Given the description of an element on the screen output the (x, y) to click on. 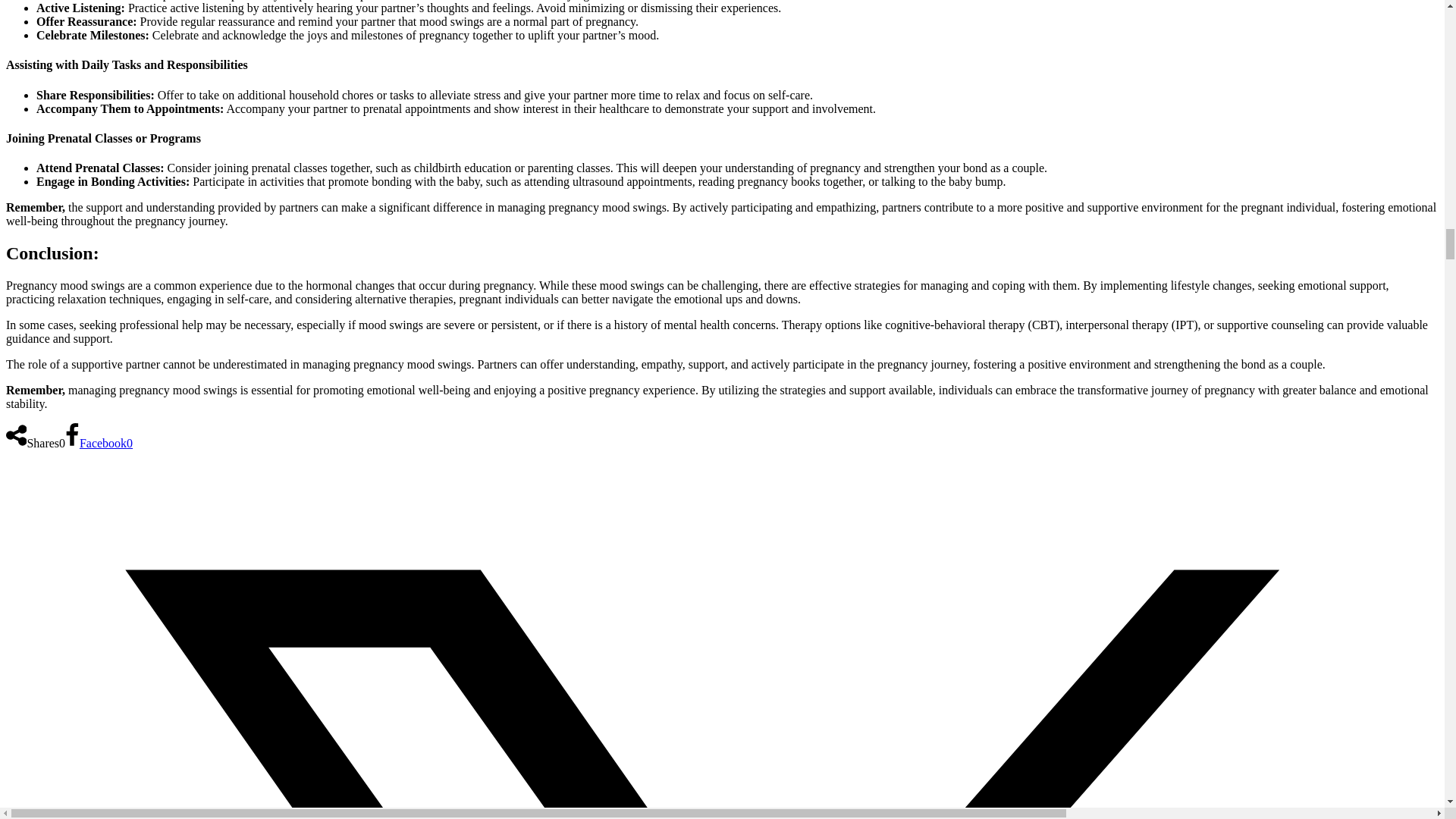
Share on Facebook (98, 442)
Facebook0 (98, 442)
